Given the description of an element on the screen output the (x, y) to click on. 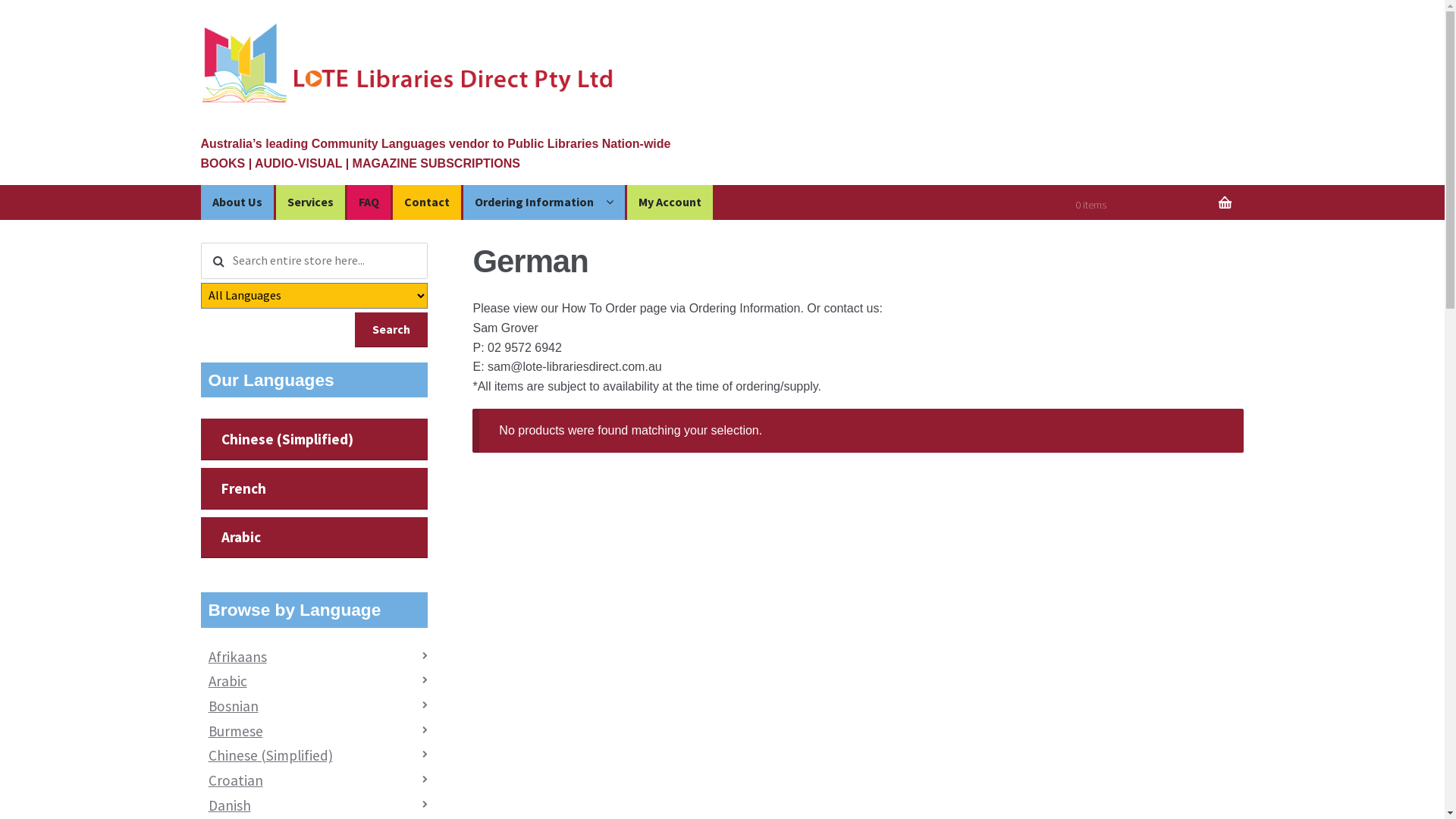
About Us Element type: text (236, 202)
Danish Element type: text (229, 805)
Ordering Information Element type: text (543, 202)
Bosnian Element type: text (233, 705)
Search Element type: text (390, 329)
FAQ Element type: text (368, 202)
Skip to content Element type: text (243, 194)
Skip to navigation Element type: text (250, 194)
Chinese (Simplified) Element type: text (313, 439)
Croatian Element type: text (235, 780)
My Account Element type: text (669, 202)
Chinese (Simplified) Element type: text (270, 755)
Arabic Element type: text (227, 680)
Arabic Element type: text (313, 537)
French Element type: text (313, 488)
0 items Element type: text (1129, 204)
Contact Element type: text (426, 202)
Afrikaans Element type: text (237, 656)
Burmese Element type: text (235, 730)
Services Element type: text (310, 202)
